Given the description of an element on the screen output the (x, y) to click on. 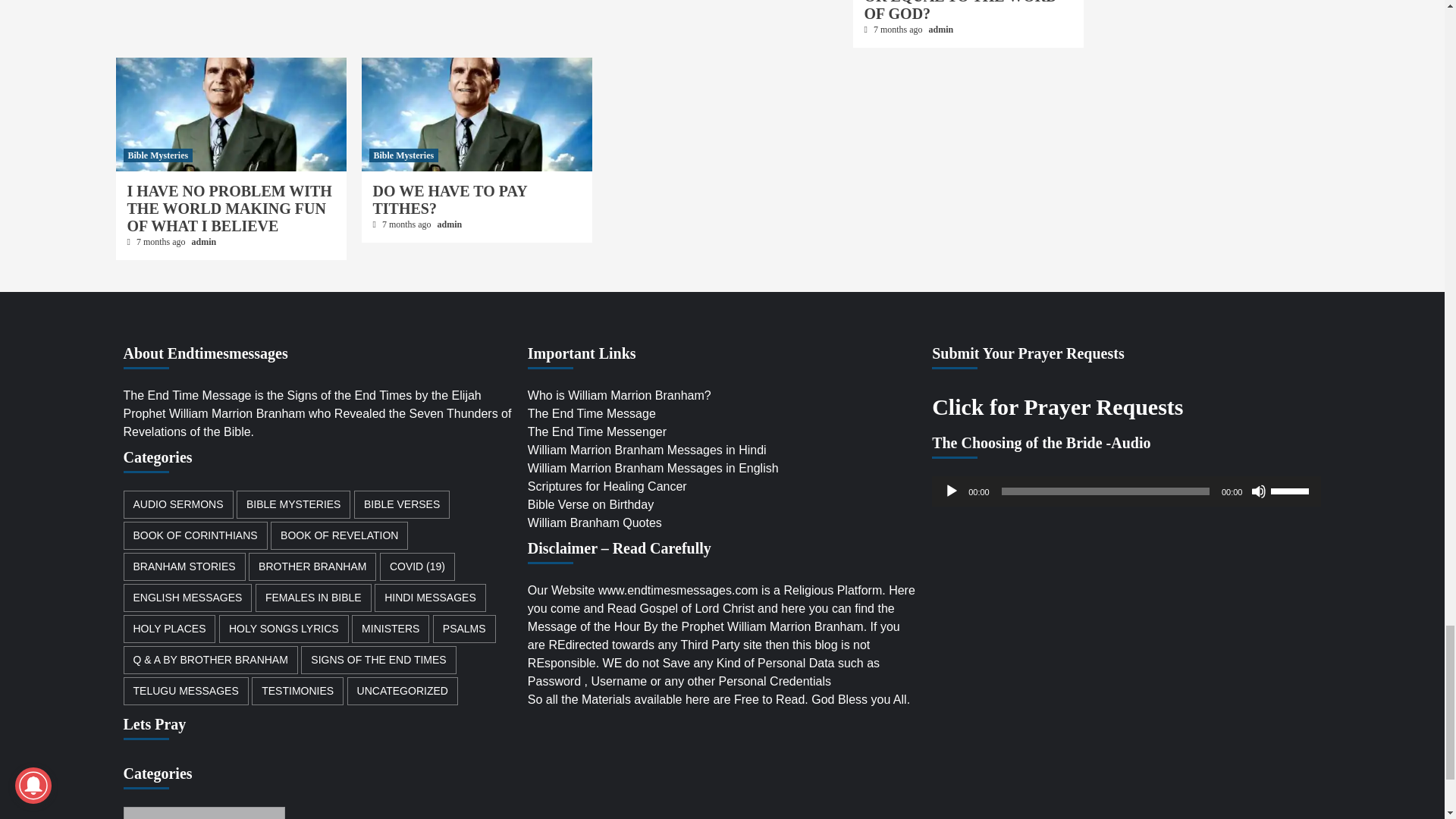
Play (951, 491)
Mute (1258, 491)
